Given the description of an element on the screen output the (x, y) to click on. 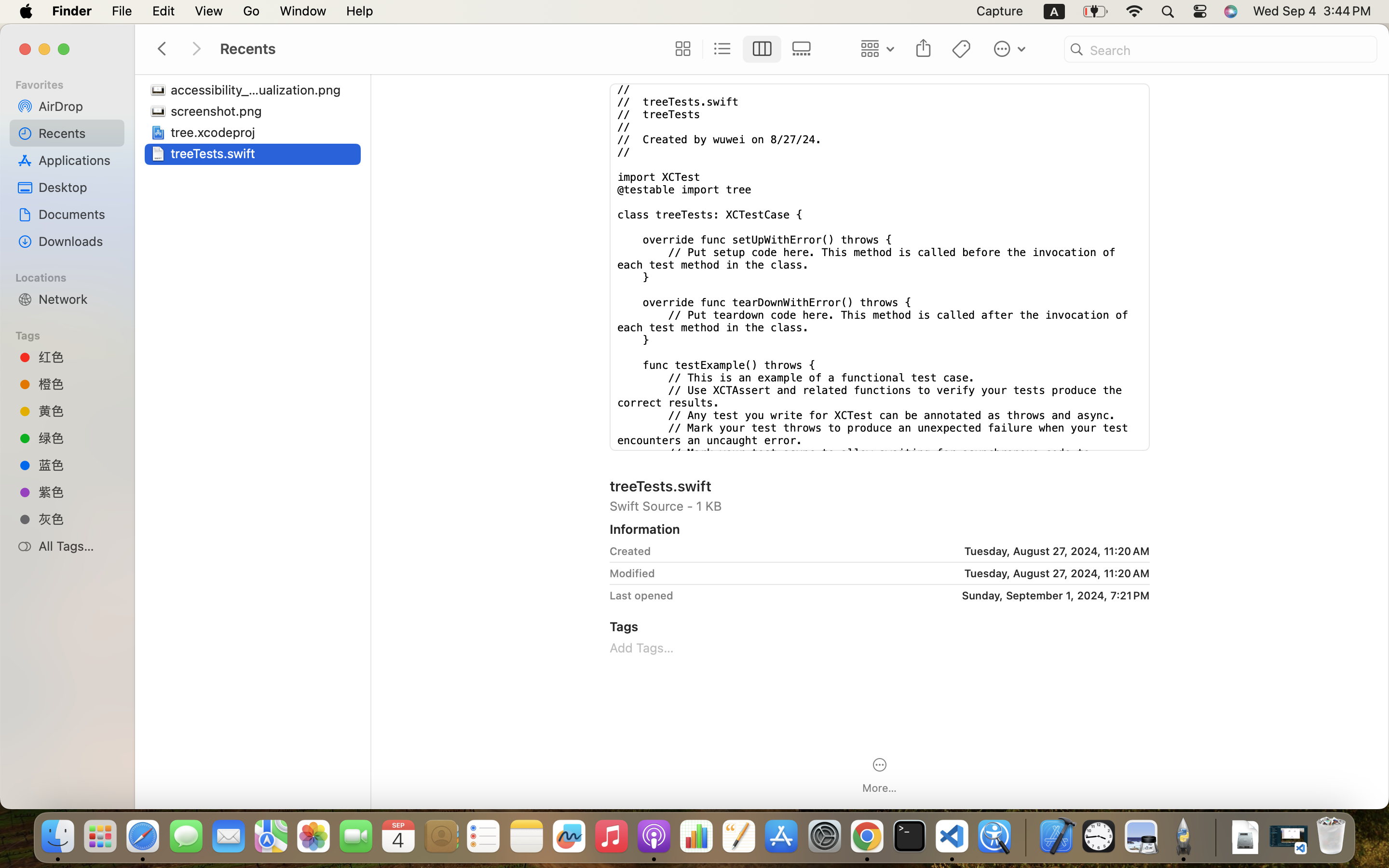
0.4285714328289032 Element type: AXDockItem (1024, 836)
Created Element type: AXStaticText (630, 550)
screenshot.png Element type: AXTextField (218, 110)
<AXUIElement 0x13b98dca0> {pid=510} Element type: AXRadioGroup (741, 48)
橙色 Element type: AXStaticText (77, 383)
